Given the description of an element on the screen output the (x, y) to click on. 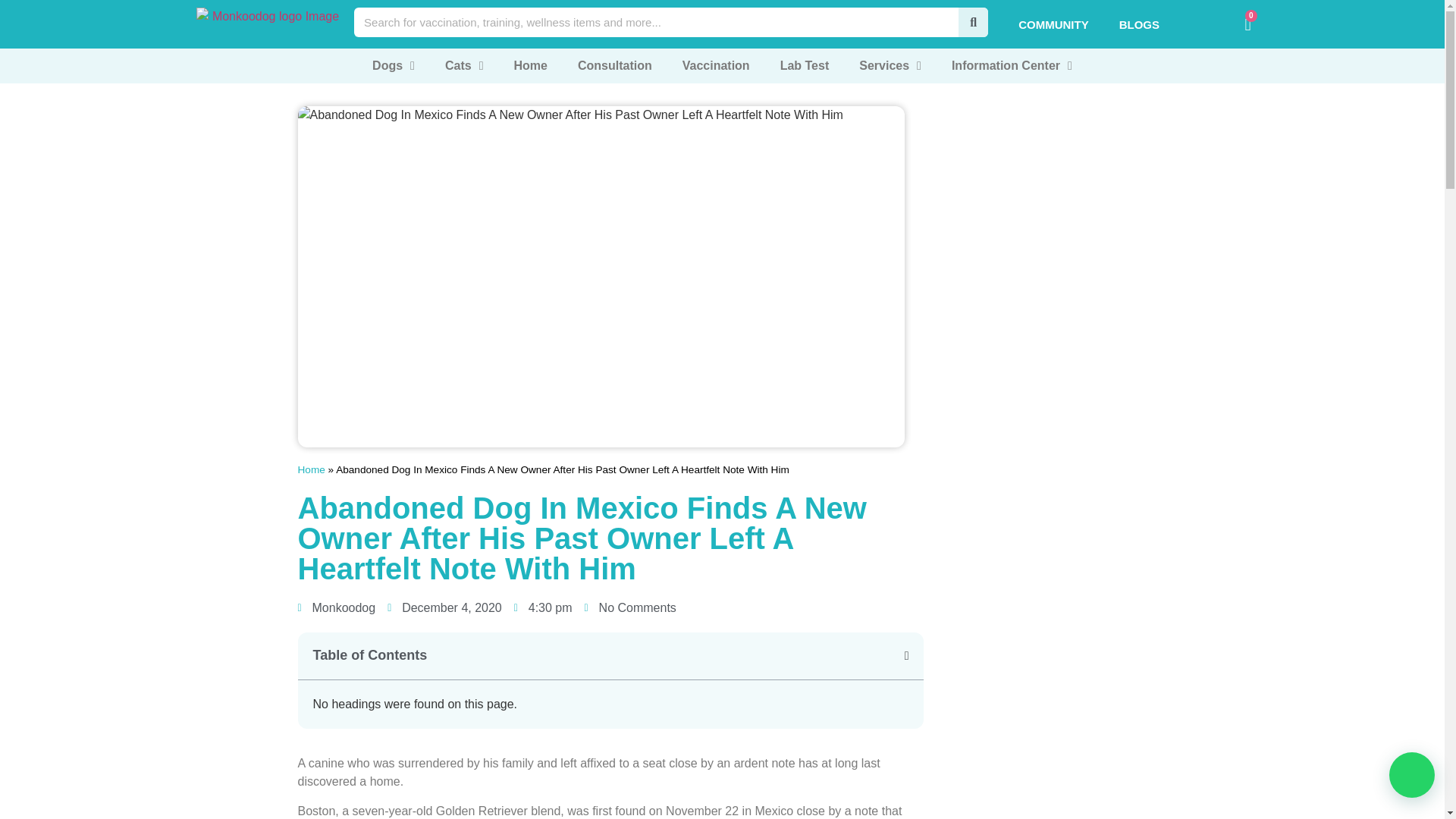
Best Veterinary Service in India (267, 22)
COMMUNITY (1053, 24)
BLOGS (1138, 24)
